Given the description of an element on the screen output the (x, y) to click on. 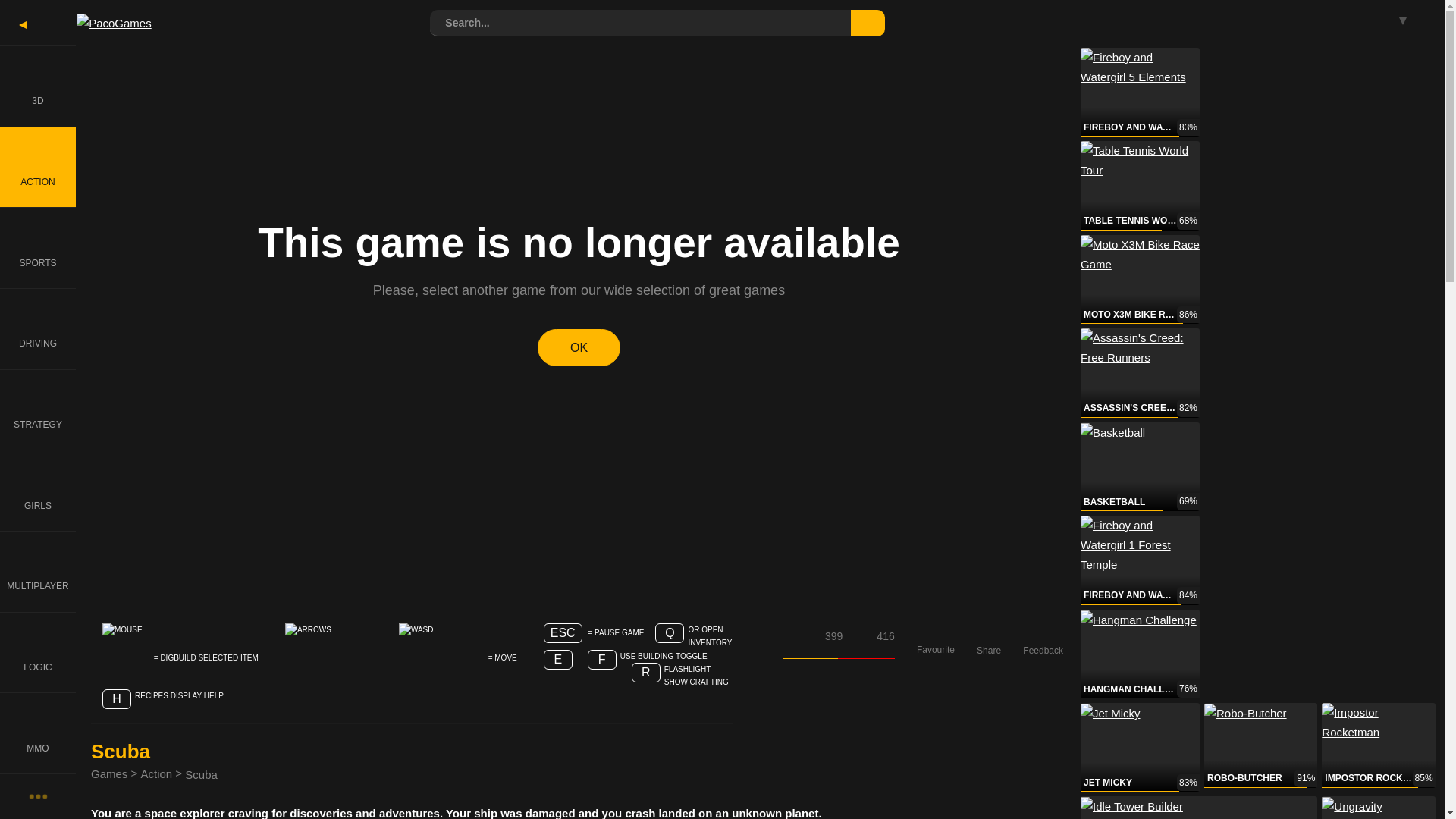
OK (578, 347)
3D (37, 85)
Action (155, 773)
3D Games (37, 85)
MMO (37, 732)
Feedback (1042, 637)
Games For Girls (37, 489)
ACTION (37, 167)
LOGIC (37, 651)
Strategy Games (37, 409)
Logic Games (37, 651)
MMO games (37, 732)
Action Games (37, 167)
Games (109, 773)
Favourite (936, 637)
